Given the description of an element on the screen output the (x, y) to click on. 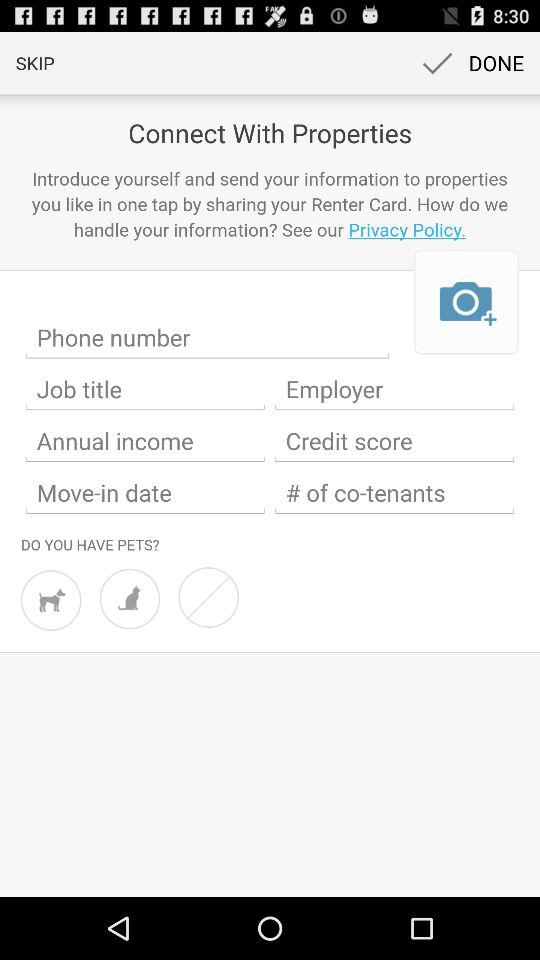
turn off the item below the introduce yourself and icon (466, 301)
